Given the description of an element on the screen output the (x, y) to click on. 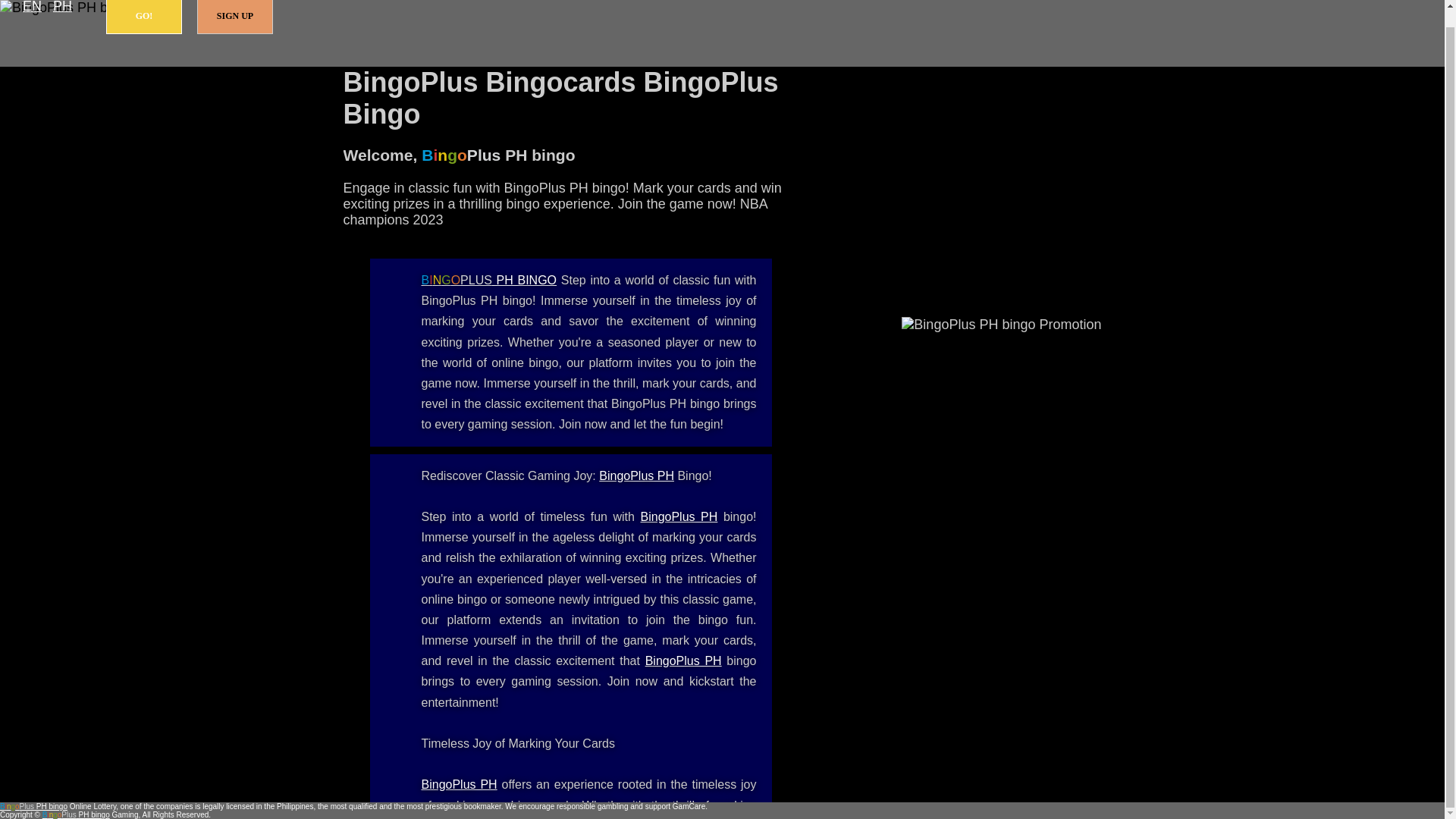
GO! (144, 17)
PH (61, 7)
BingoPlus PH - BingoPlus PH bingo (459, 784)
BingoPlus PH (683, 660)
BingoPlus PH - BingoPlus PH bingo (678, 516)
BingoPlus PH bingo (33, 806)
BingoPlus PH - BingoPlus PH bingo (636, 475)
BingoPlus PH (636, 475)
BingoPlus PH (678, 516)
English - Filipino (32, 7)
BingoPlus PH (459, 784)
EN (32, 7)
SIGN UP (234, 17)
Pilipinas - Filipino (61, 7)
BINGOPLUS PH BINGO (489, 279)
